Given the description of an element on the screen output the (x, y) to click on. 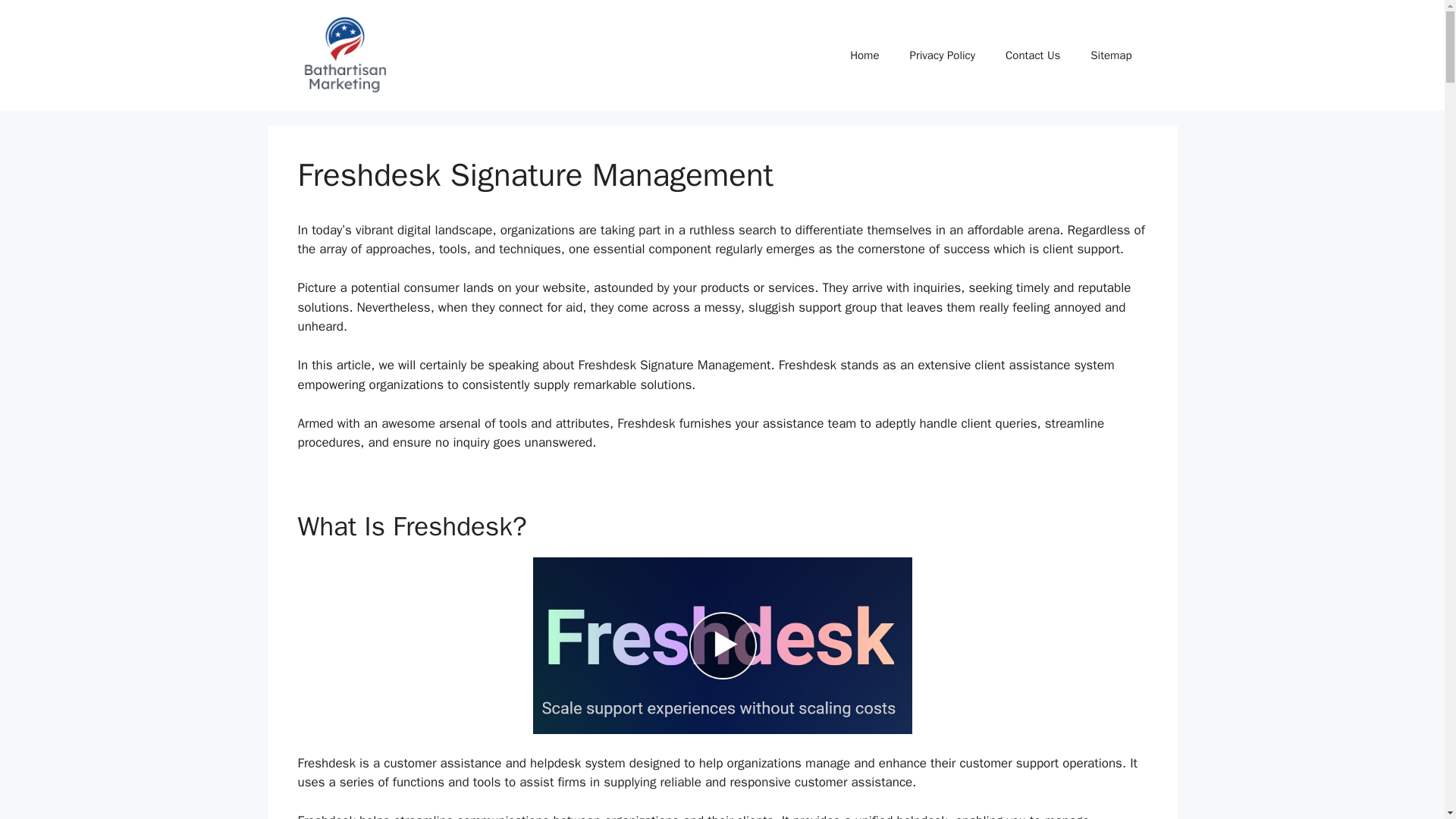
Sitemap (1111, 54)
Home (863, 54)
Contact Us (1032, 54)
Privacy Policy (941, 54)
